Given the description of an element on the screen output the (x, y) to click on. 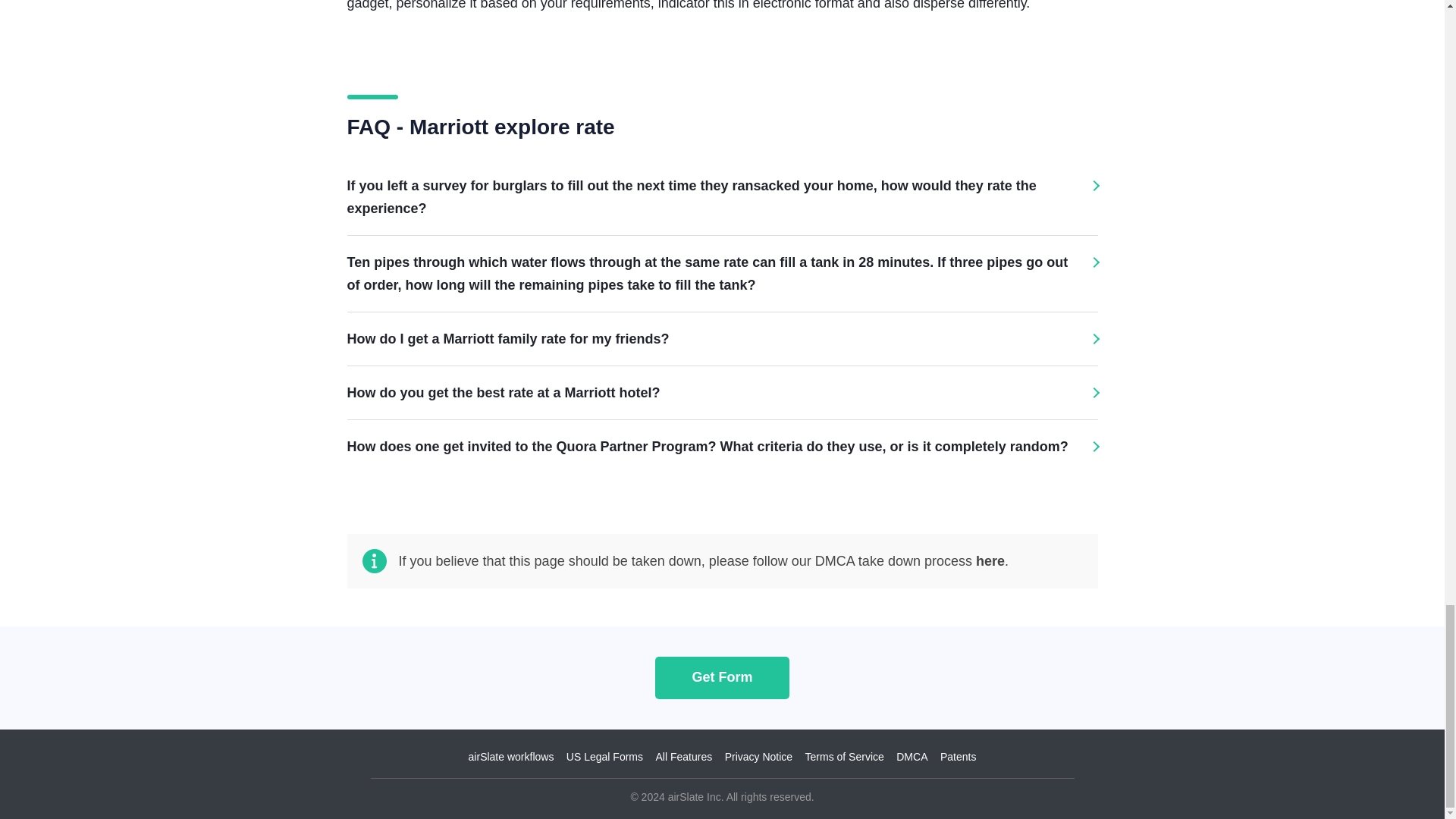
here (989, 560)
US Legal Forms (604, 756)
DMCA (911, 756)
All Features (683, 756)
Get Form (722, 676)
Privacy Notice (758, 756)
Terms of Service (844, 756)
Patents (957, 756)
airSlate workflows (511, 756)
